Given the description of an element on the screen output the (x, y) to click on. 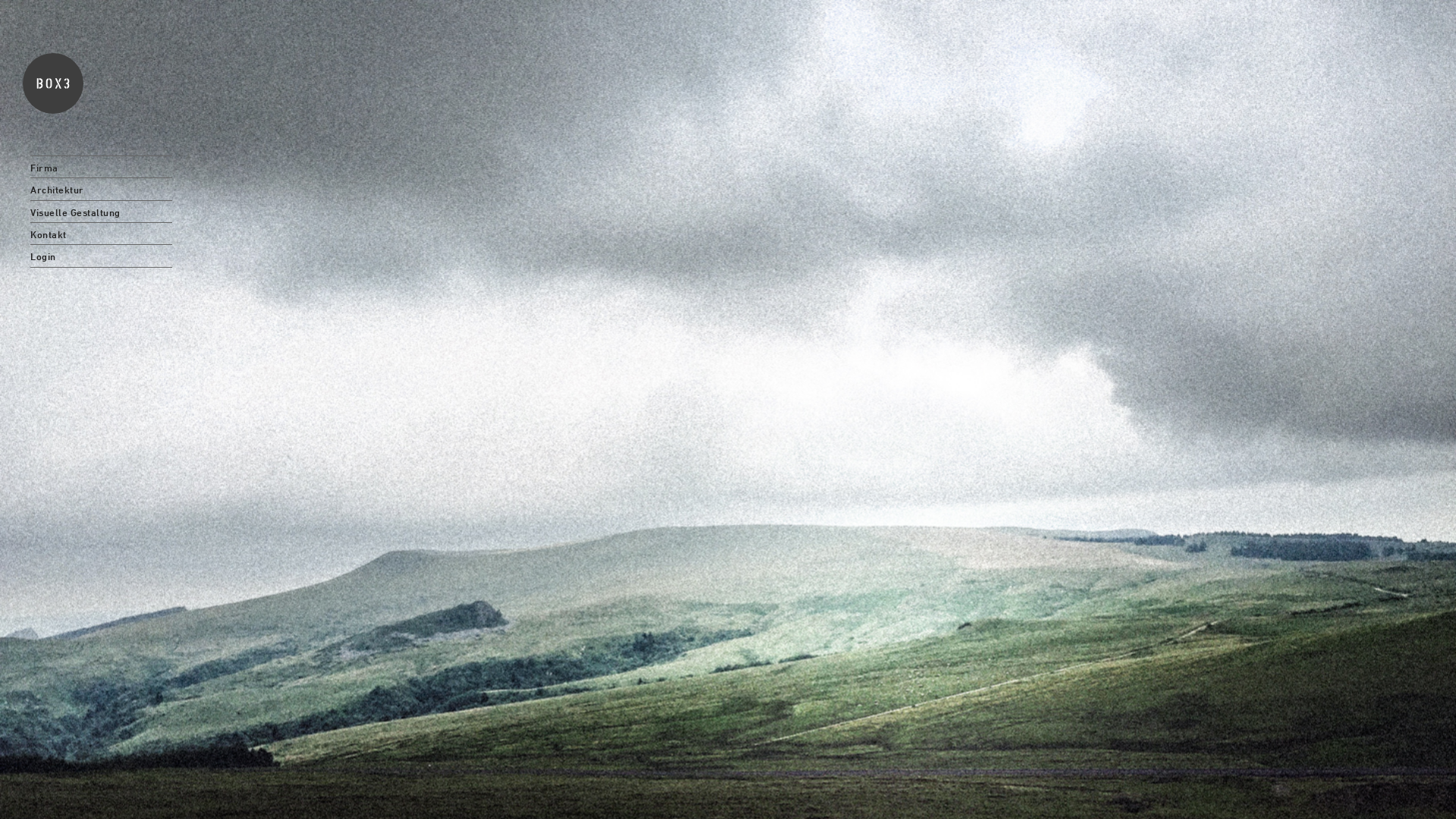
Firma Element type: text (101, 166)
Visuelle Gestaltung Element type: text (101, 211)
Kontakt Element type: text (101, 233)
Login Element type: text (101, 255)
Architektur Element type: text (101, 188)
